Given the description of an element on the screen output the (x, y) to click on. 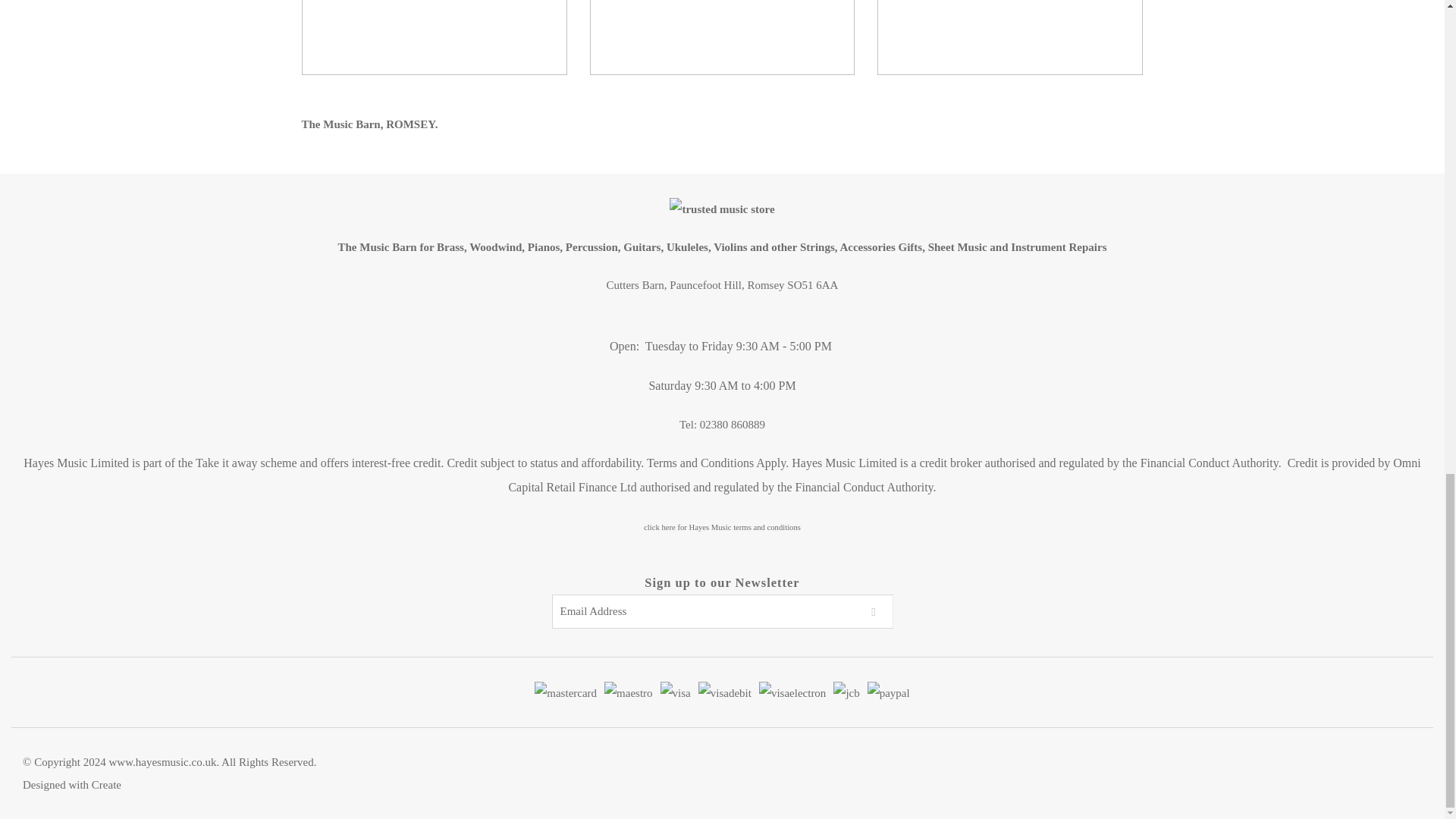
trusted music store (721, 209)
